Given the description of an element on the screen output the (x, y) to click on. 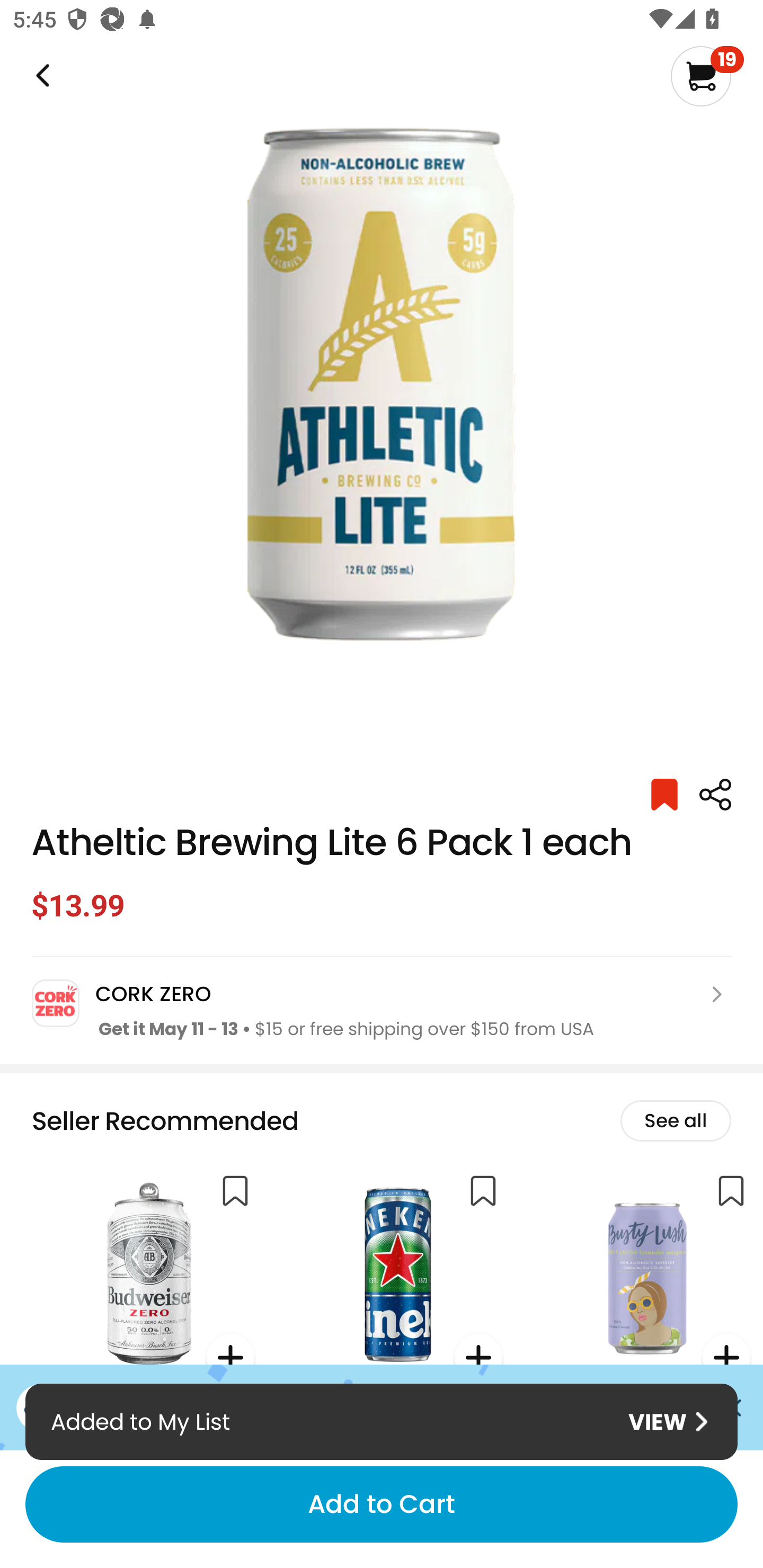
Weee! (41, 75)
19 (706, 75)
Weee! (714, 794)
Added to My List VIEW (381, 1420)
VIEW (667, 1421)
Add to Cart (381, 1504)
Add to Cart (381, 1504)
